Given the description of an element on the screen output the (x, y) to click on. 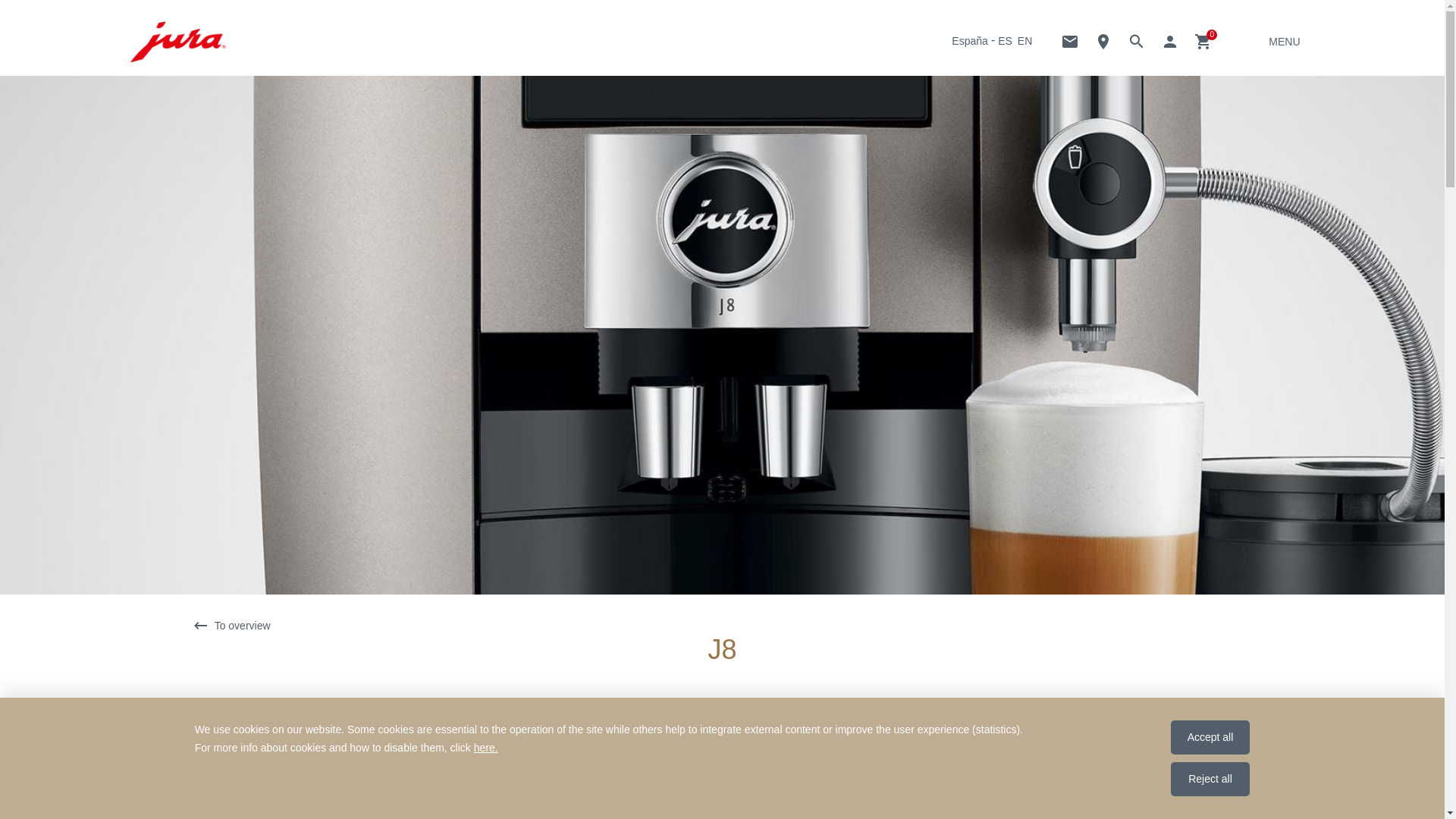
Skip to content (19, 26)
